Given the description of an element on the screen output the (x, y) to click on. 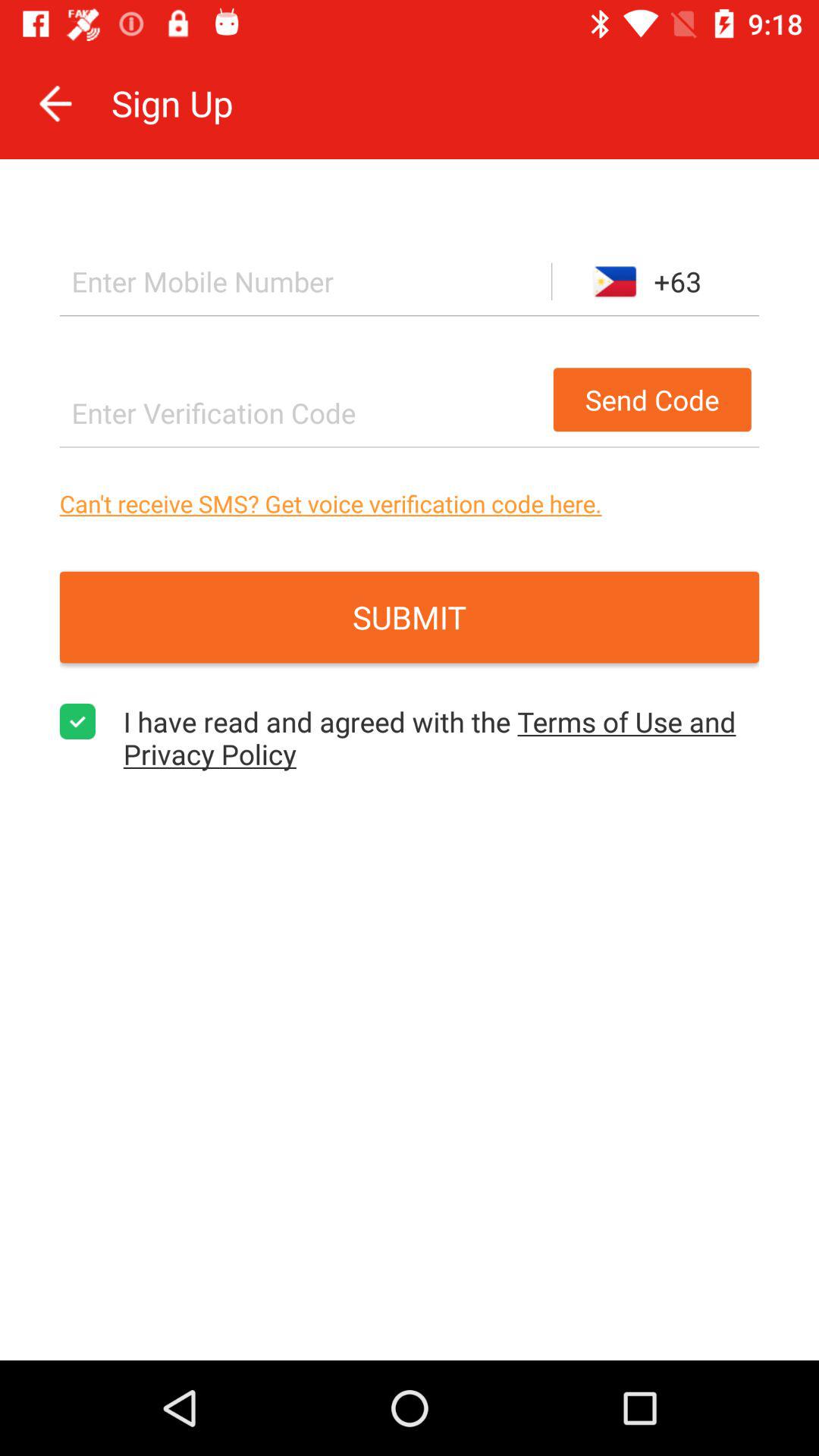
i have read and agreed with the terms of use and privacy policy (77, 721)
